Given the description of an element on the screen output the (x, y) to click on. 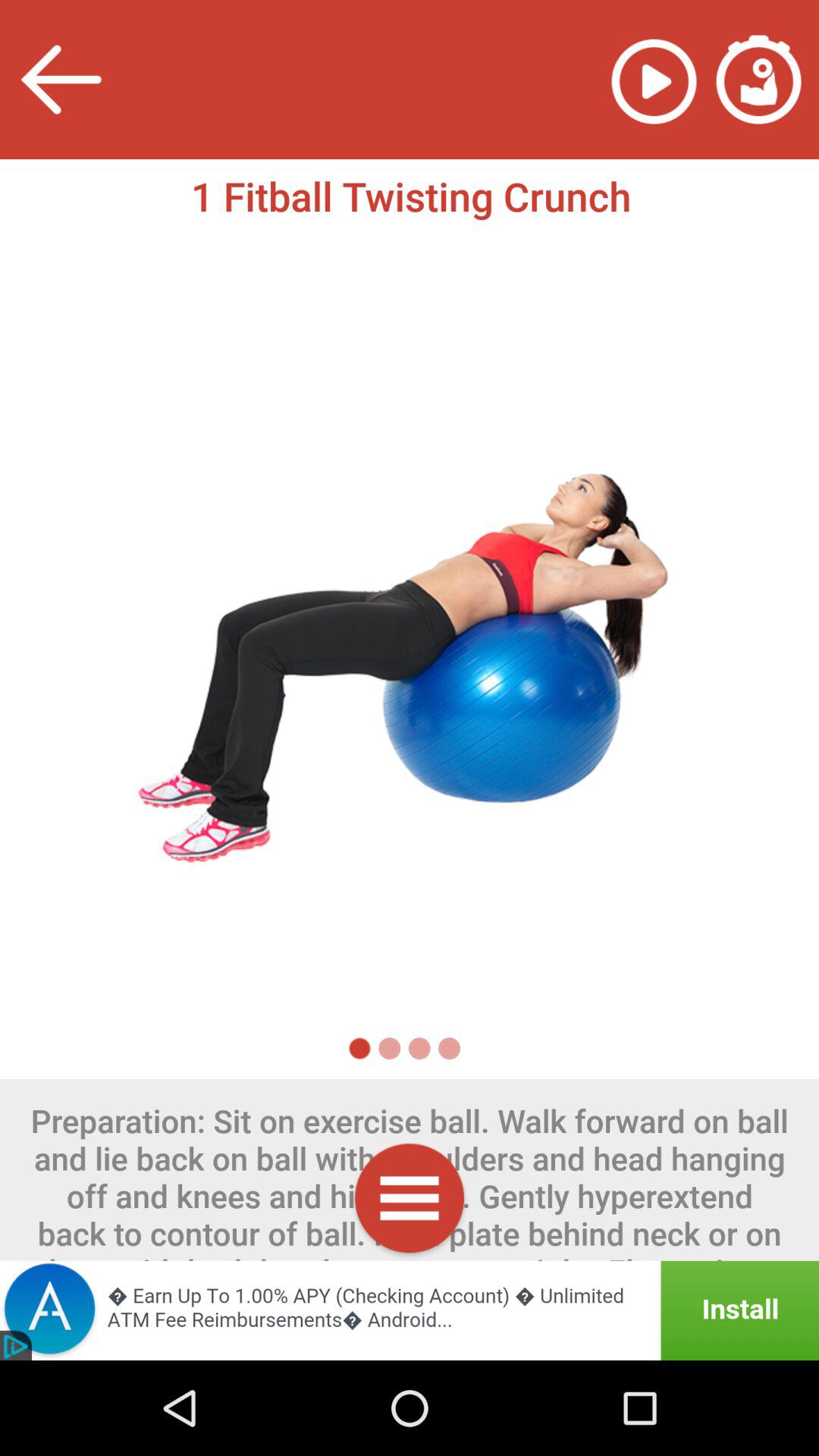
options (409, 1200)
